Given the description of an element on the screen output the (x, y) to click on. 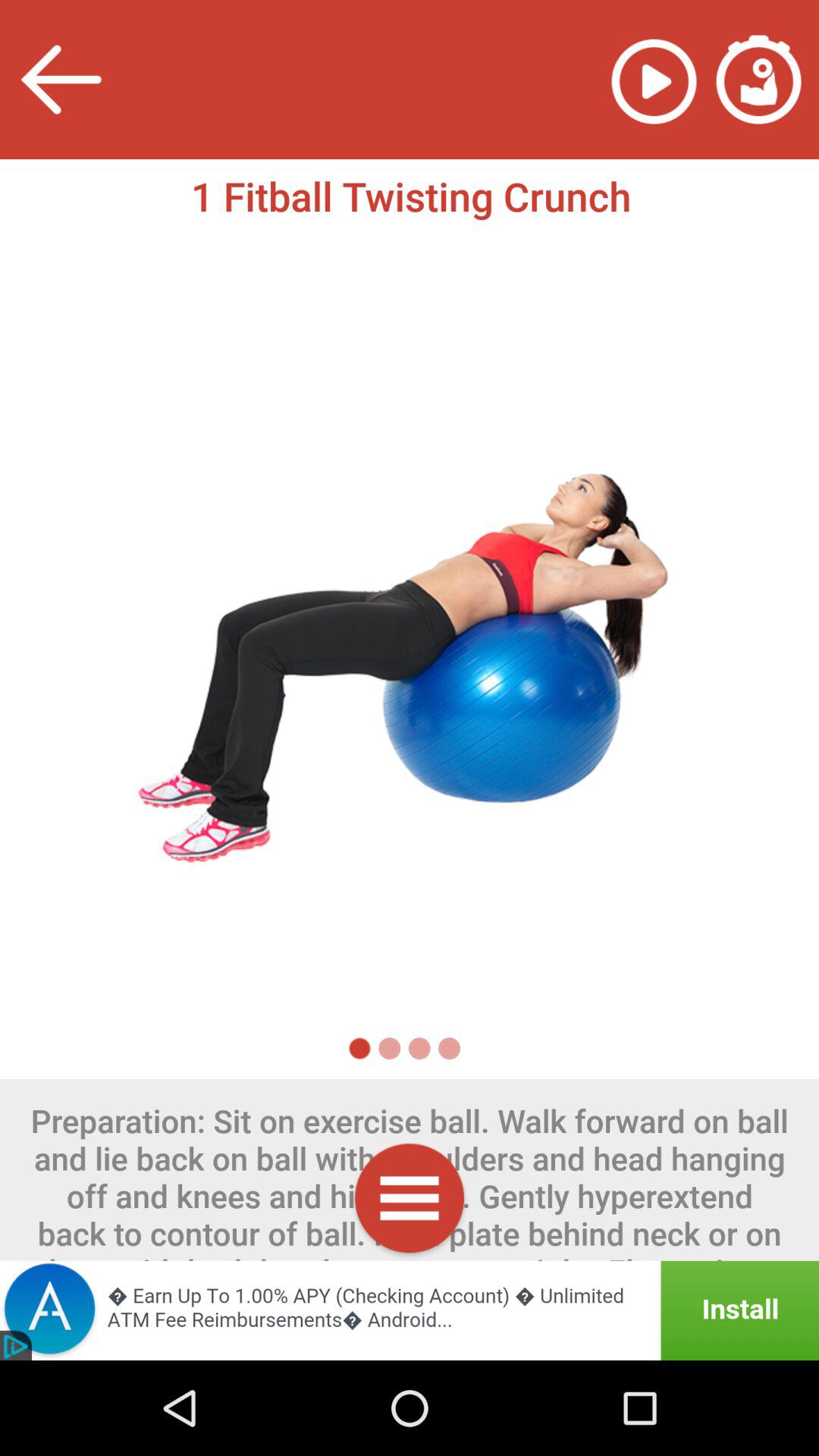
options (409, 1200)
